Given the description of an element on the screen output the (x, y) to click on. 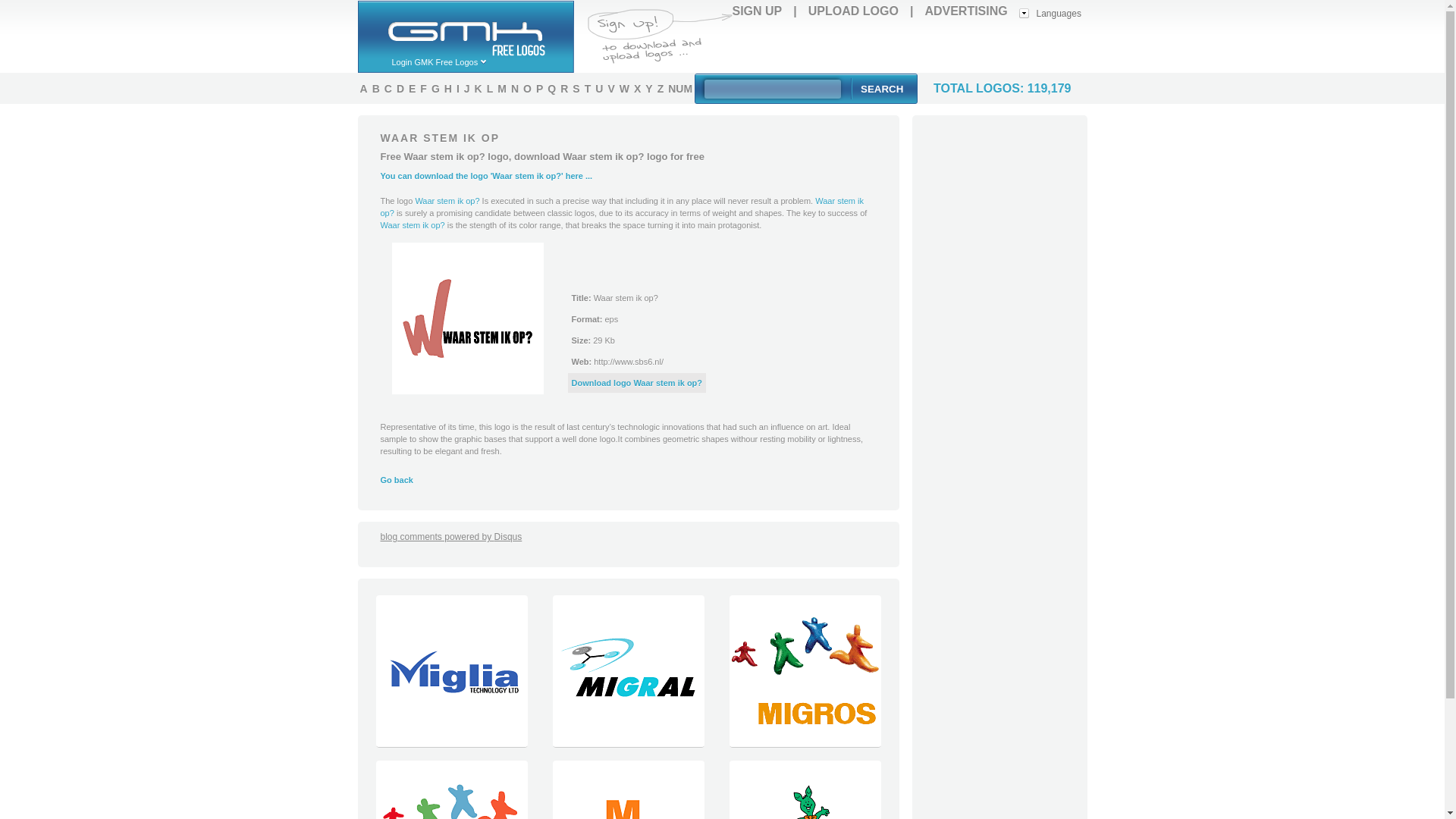
Download Waar stem ik op? (467, 317)
X (637, 88)
SIGN UP (757, 10)
Go back (396, 479)
Y (648, 88)
E (411, 88)
N (514, 88)
G (435, 88)
Search (881, 88)
S (575, 88)
Download Logo Migros (804, 743)
C (387, 88)
Home (471, 28)
D (400, 88)
UPLOAD LOGO (853, 10)
